Given the description of an element on the screen output the (x, y) to click on. 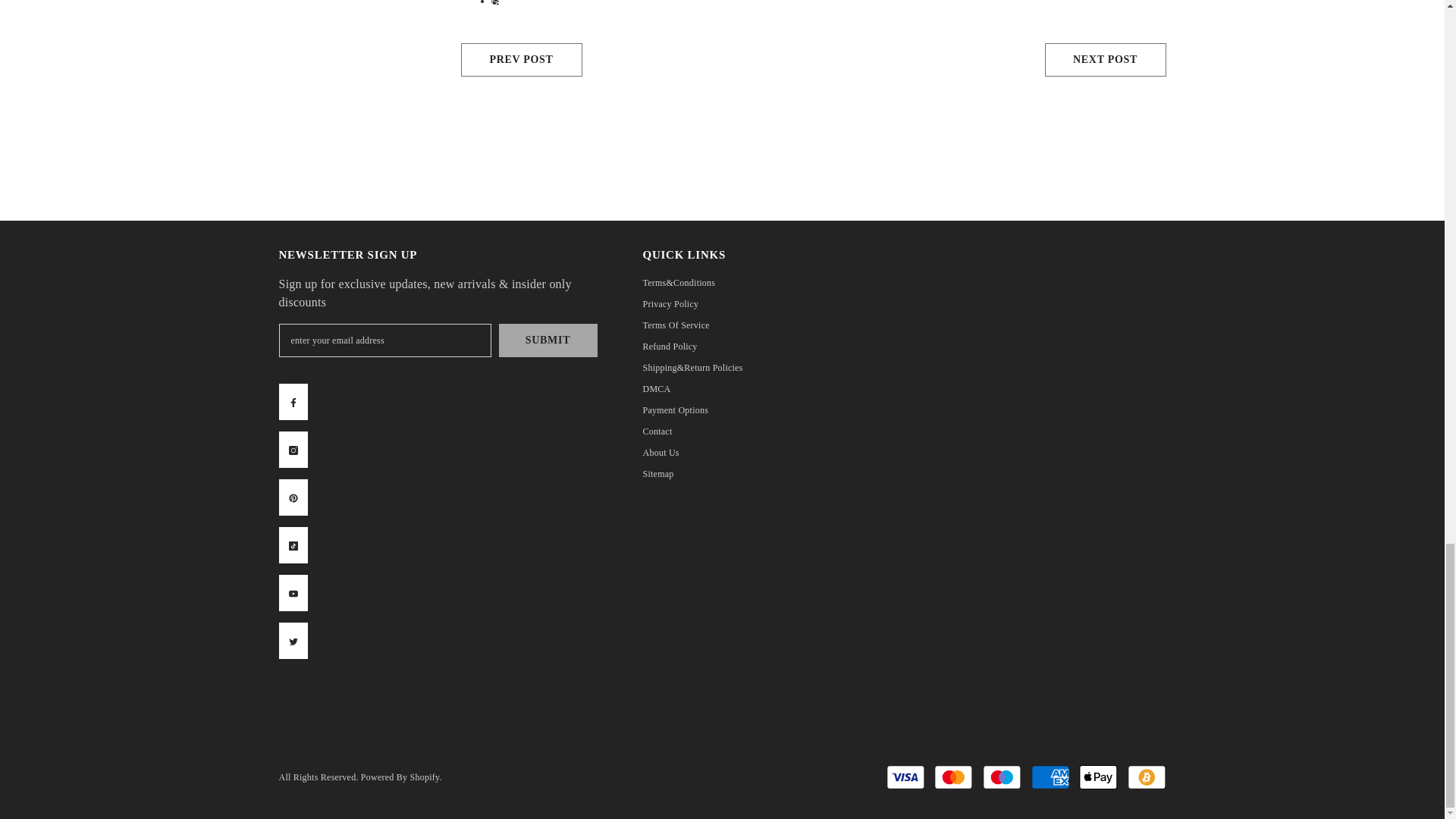
Visa (905, 776)
